Given the description of an element on the screen output the (x, y) to click on. 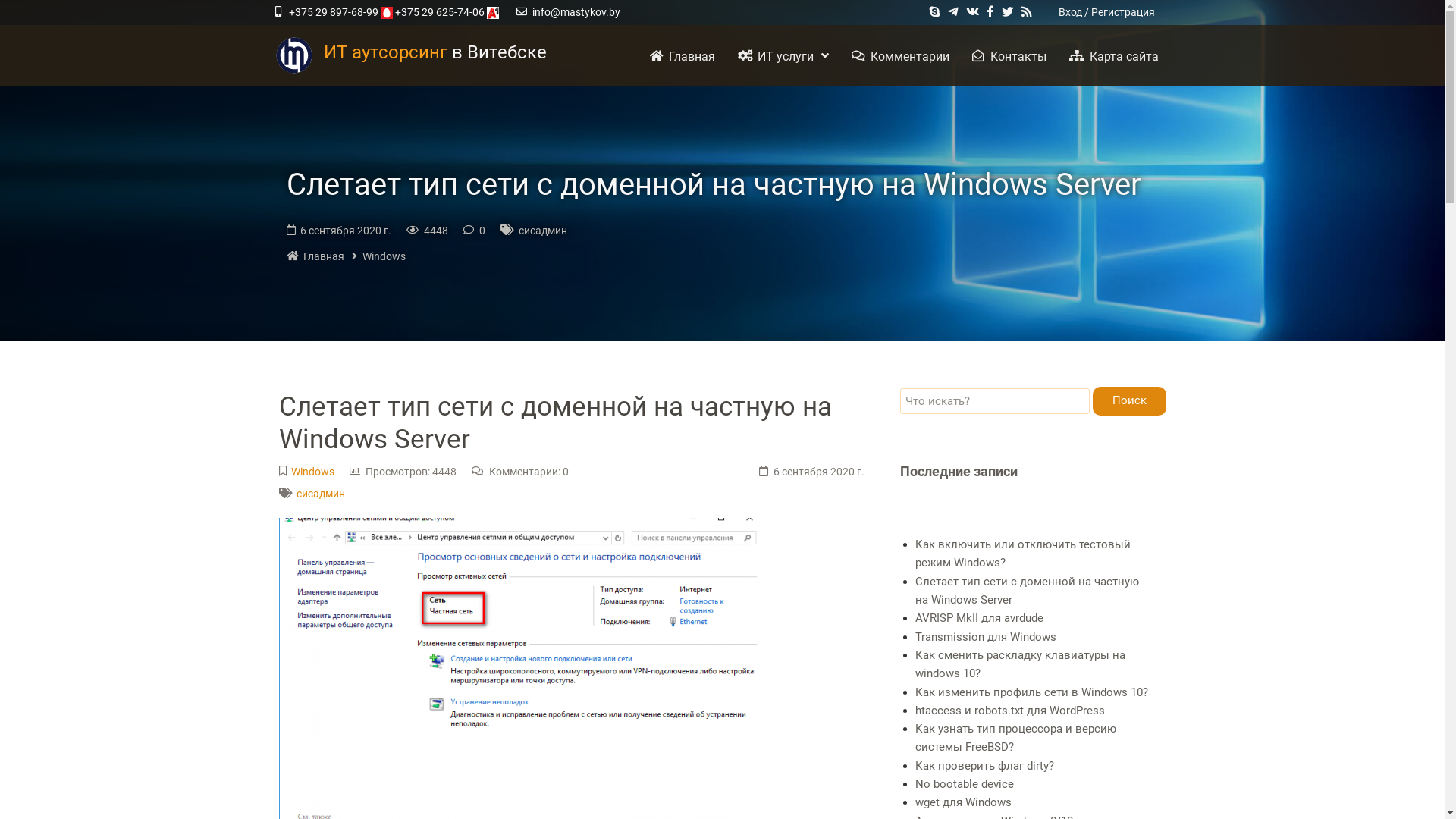
No bootable device Element type: text (963, 783)
+375 29 625-74-06 Element type: text (439, 12)
+375 29 897-68-99 Element type: text (333, 12)
info@mastykov.by Element type: text (576, 12)
Windows Element type: text (312, 471)
Windows Element type: text (378, 256)
